Given the description of an element on the screen output the (x, y) to click on. 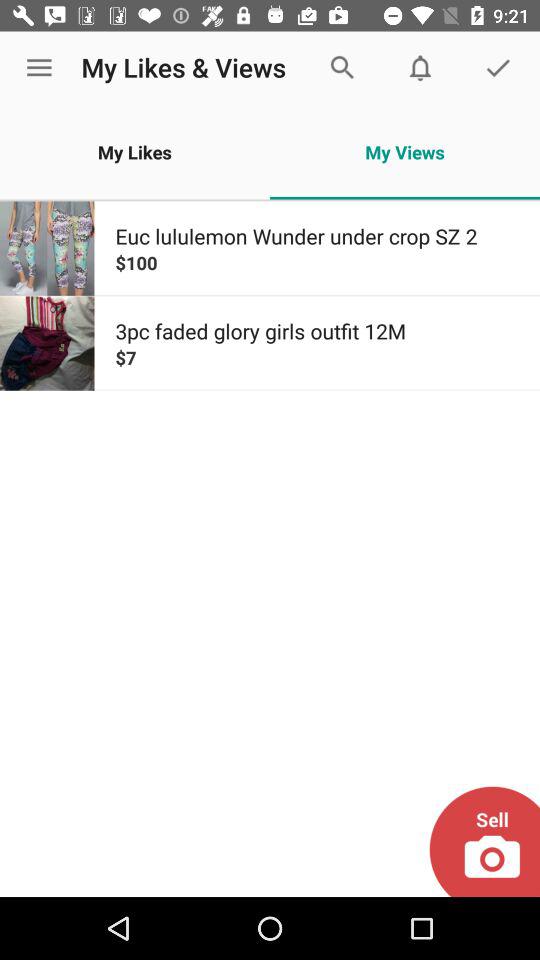
turn on the icon at the bottom right corner (484, 841)
